Given the description of an element on the screen output the (x, y) to click on. 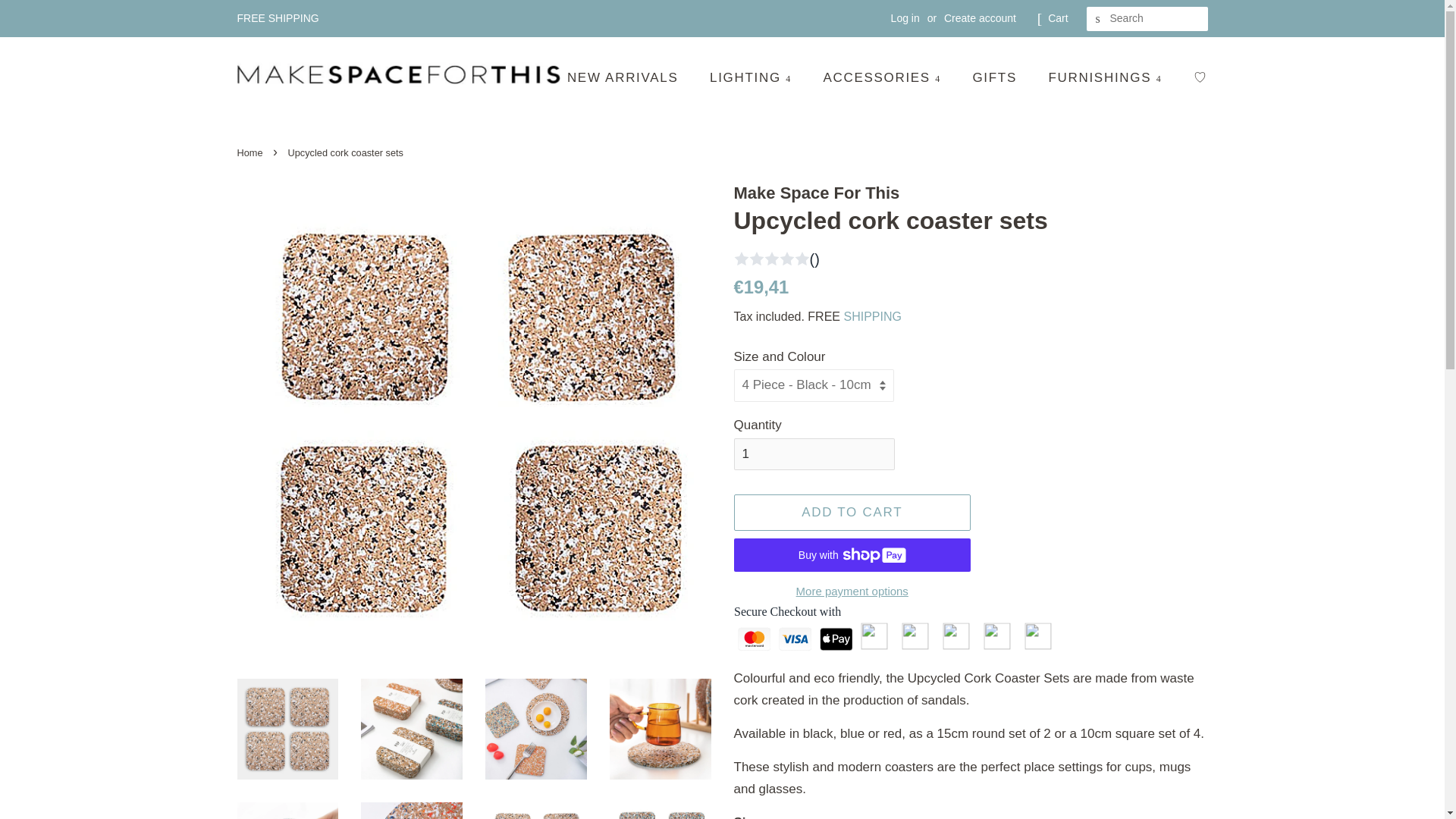
Back to the frontpage (250, 152)
NEW ARRIVALS (630, 78)
SEARCH (1097, 18)
1 (814, 454)
Cart (1057, 18)
trust-badges-widget (970, 634)
Create account (979, 18)
Log in (905, 18)
LIGHTING (752, 78)
